Given the description of an element on the screen output the (x, y) to click on. 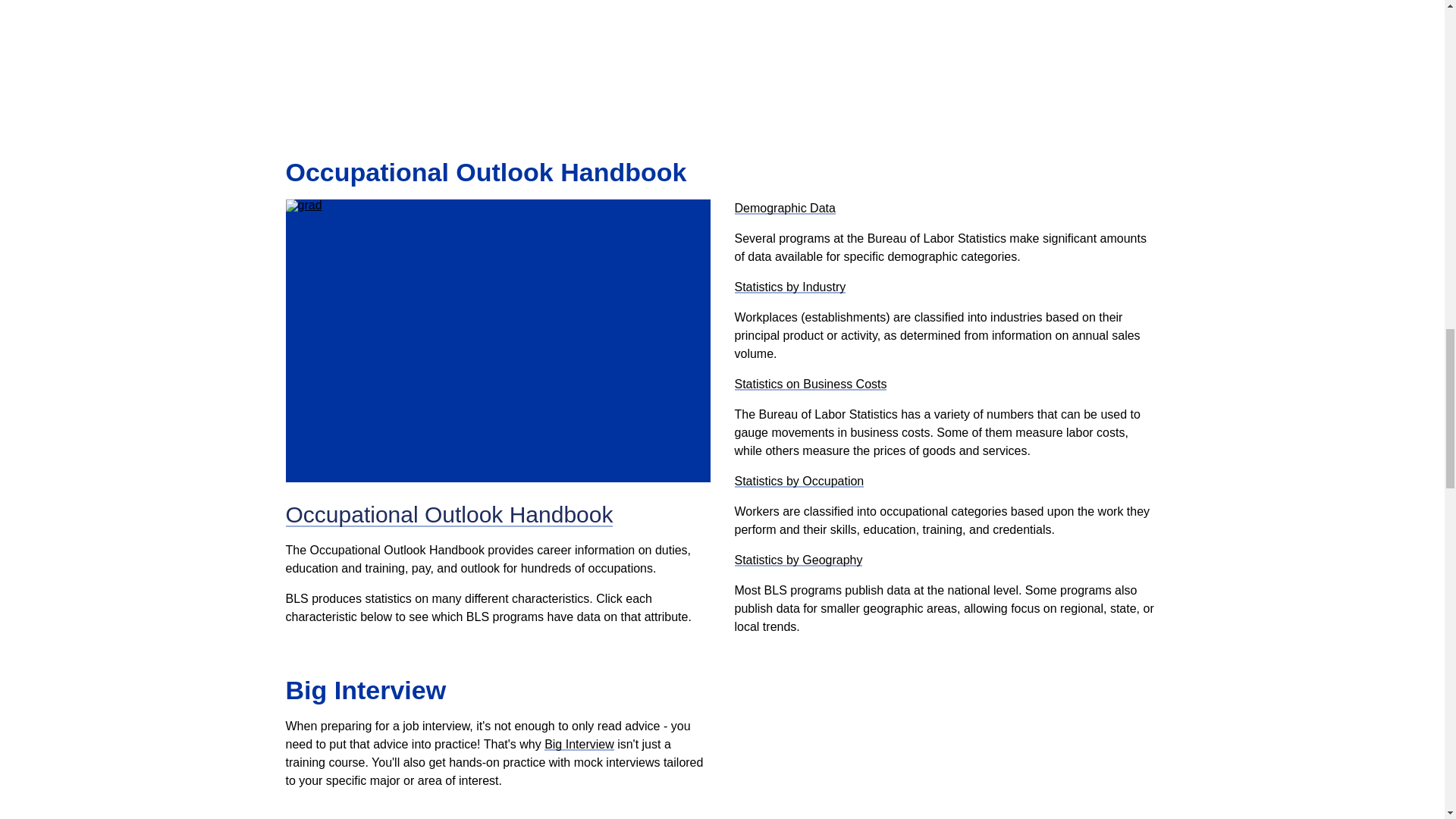
Statistics on Business Costs (809, 383)
Statistics by Occupation (798, 481)
Statistics by Geography (797, 559)
Demographic Data (783, 207)
Statistics by Industry (789, 286)
Occupational Outlook Handbook (448, 514)
Big Interview (579, 744)
